Given the description of an element on the screen output the (x, y) to click on. 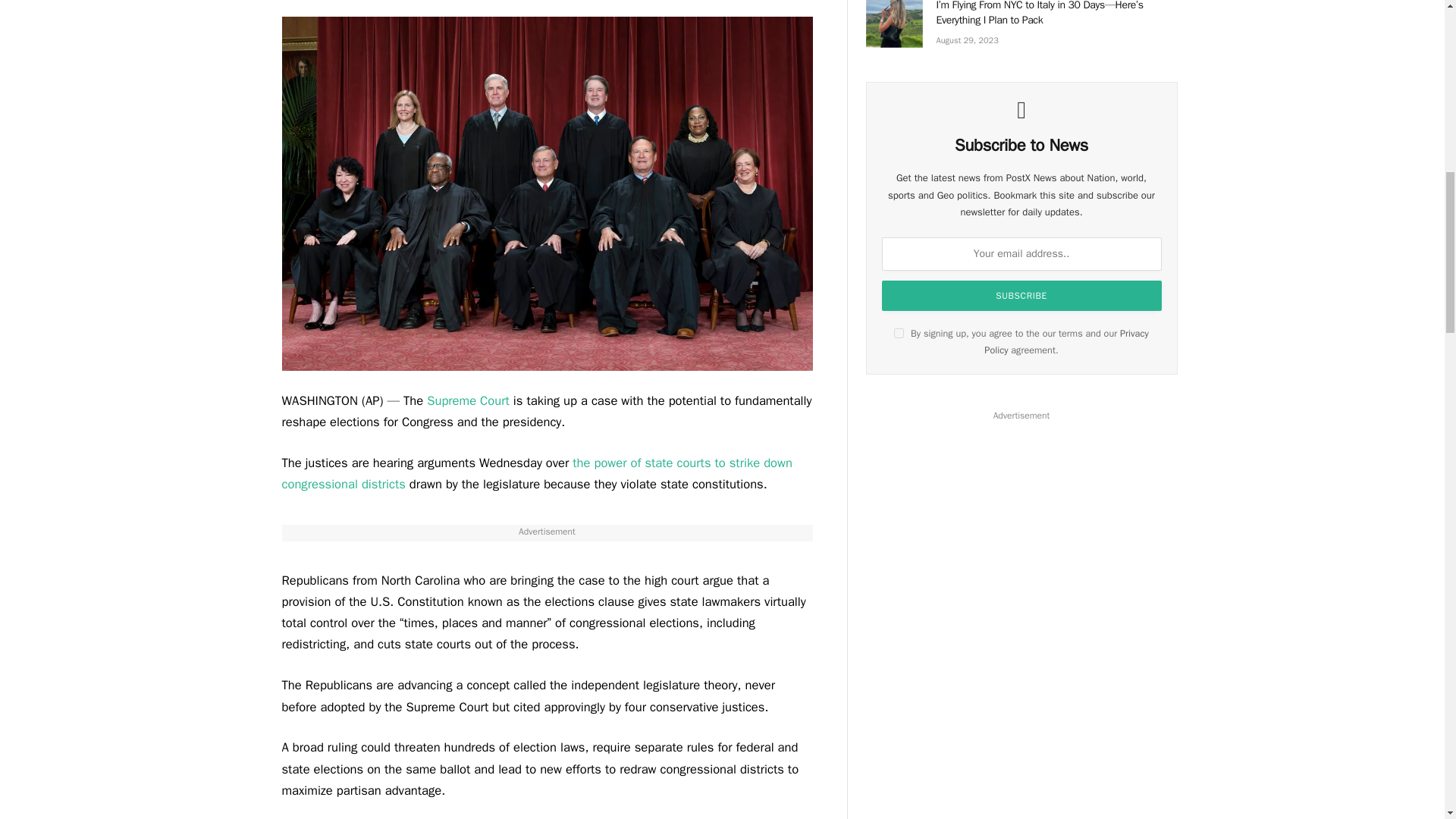
on (898, 333)
Subscribe (1021, 295)
